Given the description of an element on the screen output the (x, y) to click on. 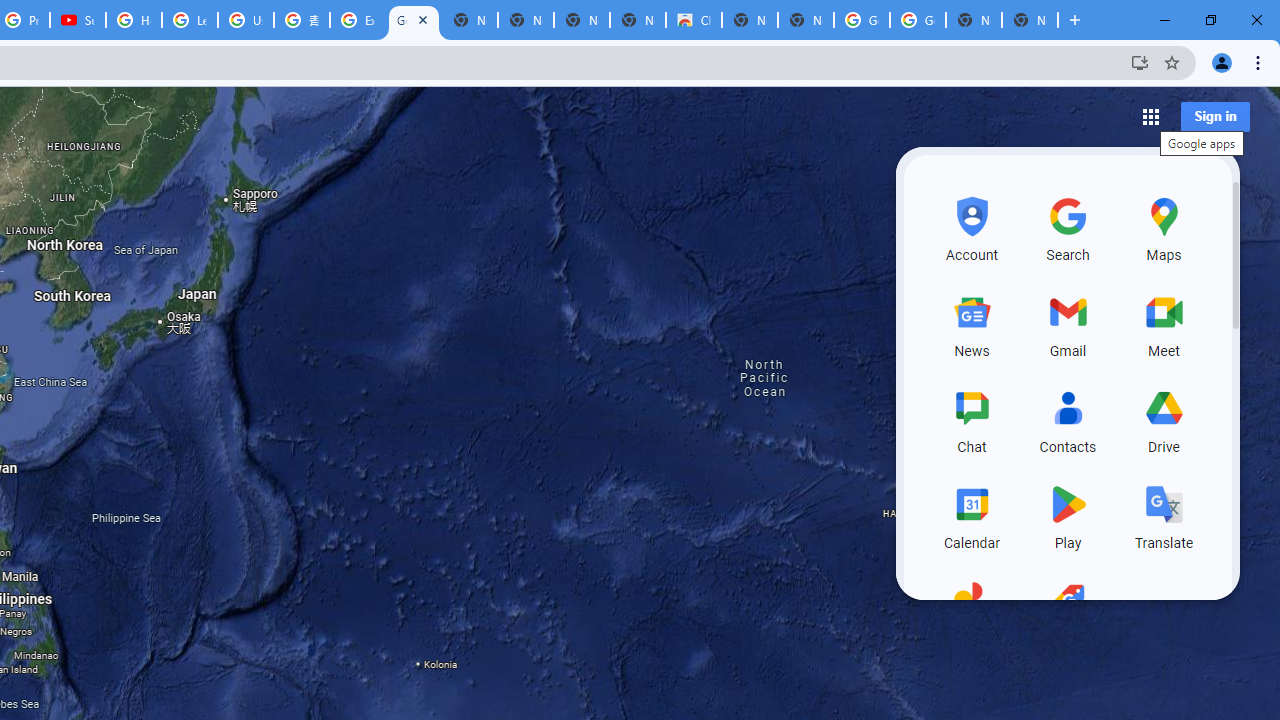
Google Images (861, 20)
New Tab (1030, 20)
How Chrome protects your passwords - Google Chrome Help (134, 20)
